Given the description of an element on the screen output the (x, y) to click on. 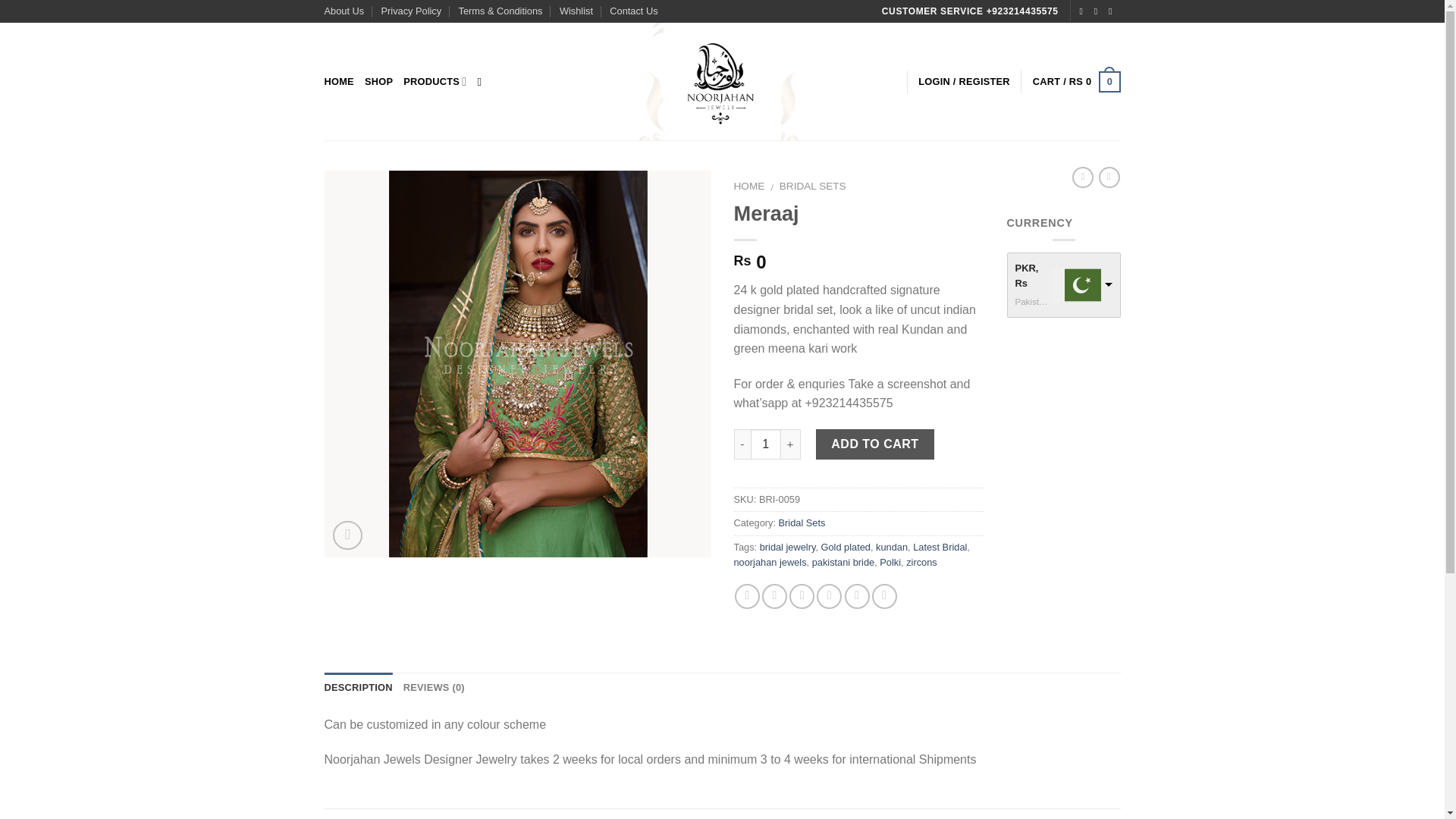
Qty (765, 444)
SHOP (379, 81)
1 (765, 444)
Privacy Policy (411, 11)
Wishlist (575, 11)
Noor Jahan - Jewelry Shop (721, 81)
HOME (749, 185)
Contact Us (634, 11)
Cart (1076, 81)
PRODUCTS (434, 81)
BRIDAL SETS (811, 185)
HOME (338, 81)
About Us (344, 11)
